Given the description of an element on the screen output the (x, y) to click on. 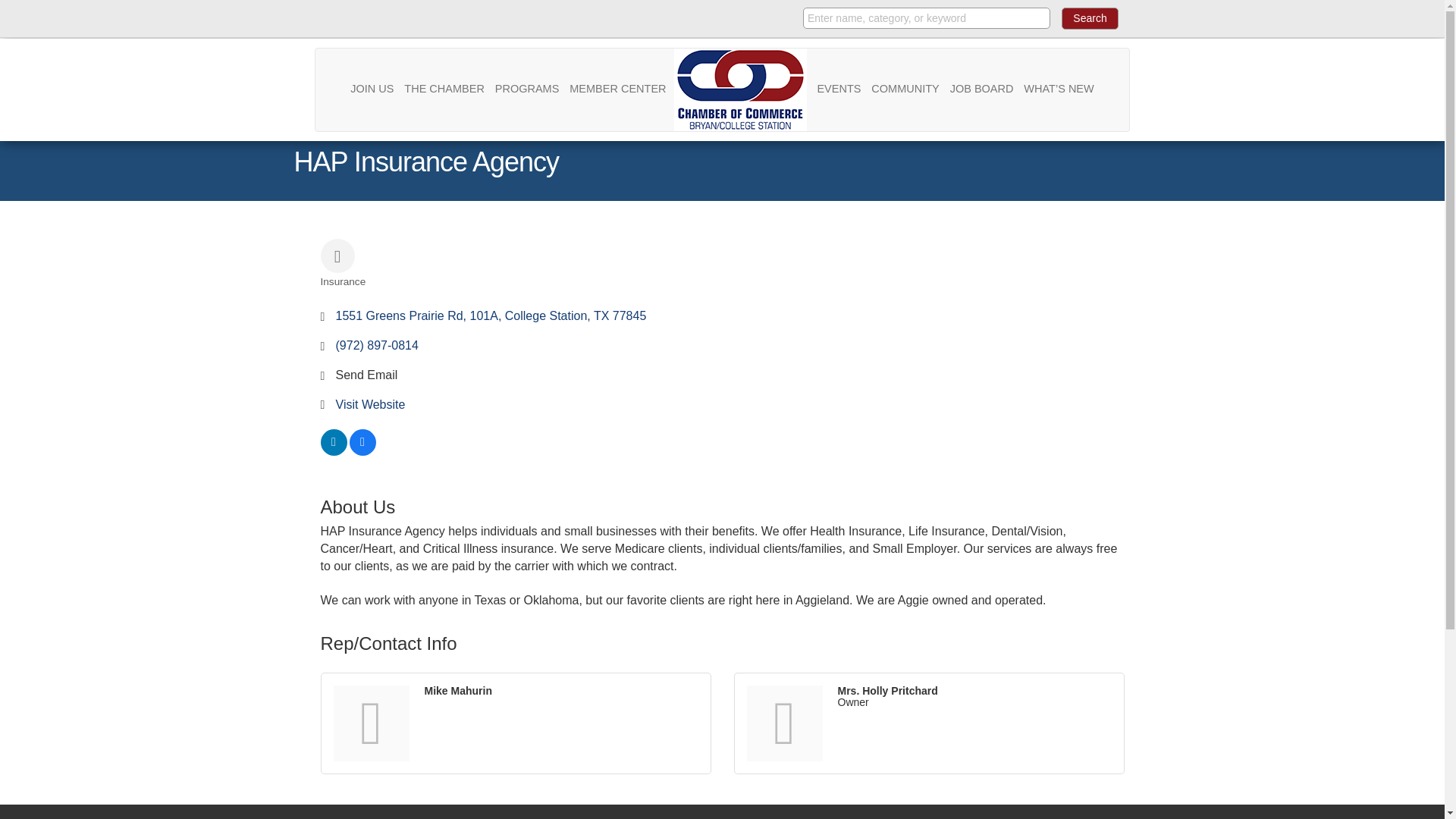
Search (1089, 18)
PROGRAMS (527, 88)
View on Facebook (362, 451)
MEMBER CENTER (617, 88)
Search (1089, 18)
EVENTS (838, 88)
THE CHAMBER (443, 88)
JOIN US (371, 88)
Search (1089, 18)
View on LinkedIn (333, 451)
